Given the description of an element on the screen output the (x, y) to click on. 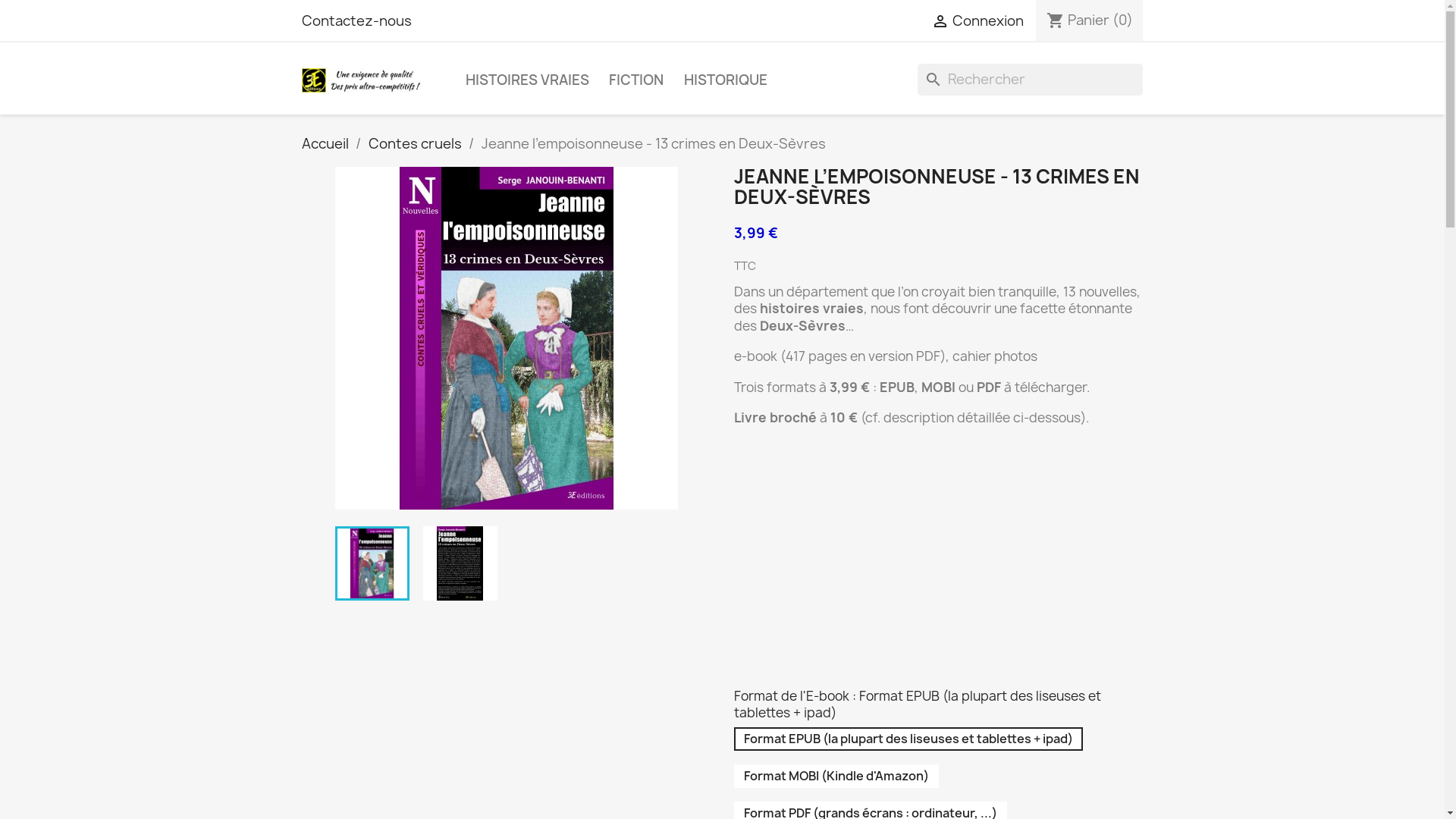
HISTOIRES VRAIES Element type: text (526, 80)
HISTORIQUE Element type: text (724, 80)
Accueil Element type: text (324, 143)
Contactez-nous Element type: text (356, 20)
FICTION Element type: text (636, 80)
Contes cruels Element type: text (414, 143)
